Given the description of an element on the screen output the (x, y) to click on. 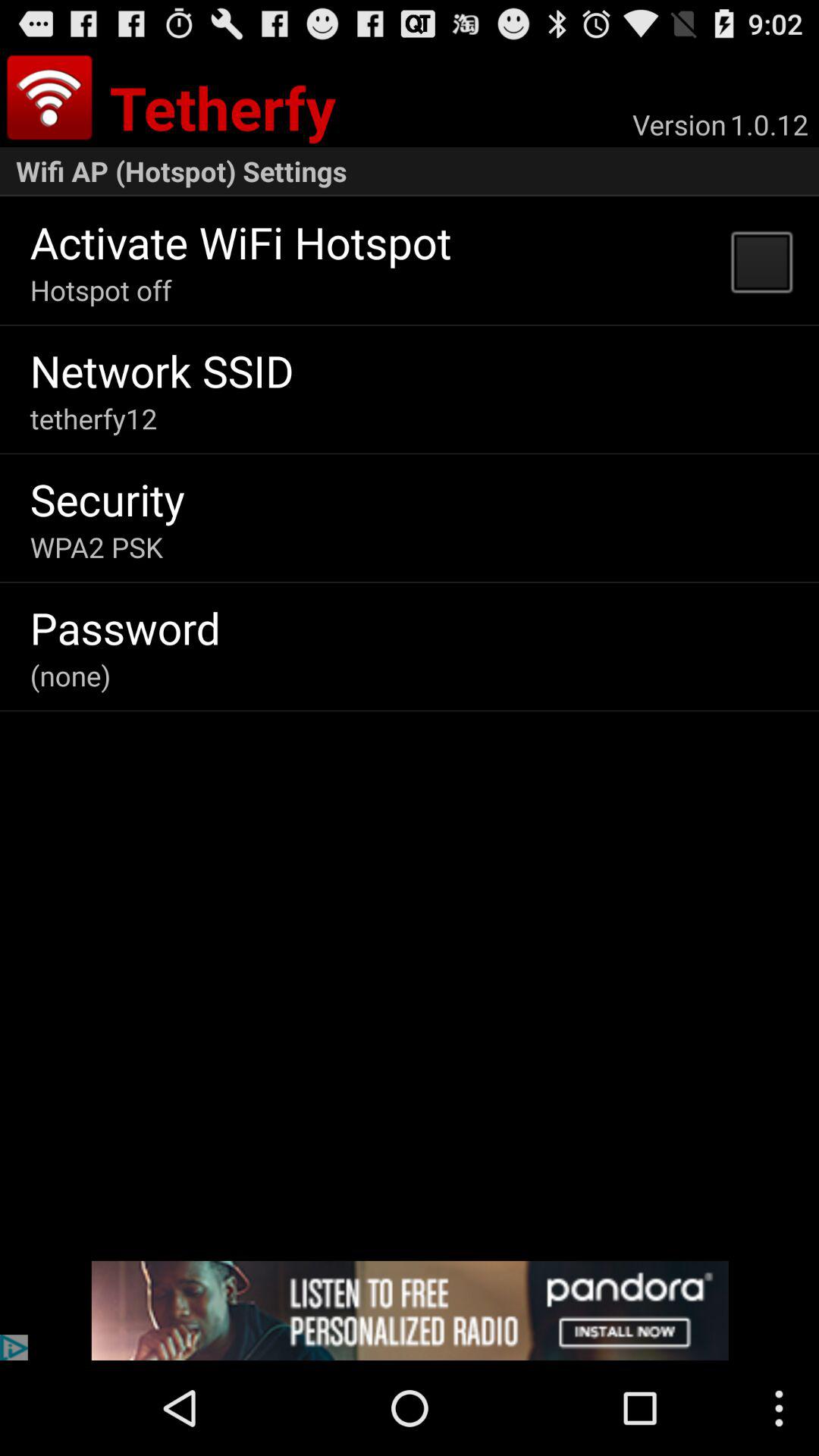
swipe to the wpa2 psk app (96, 546)
